Given the description of an element on the screen output the (x, y) to click on. 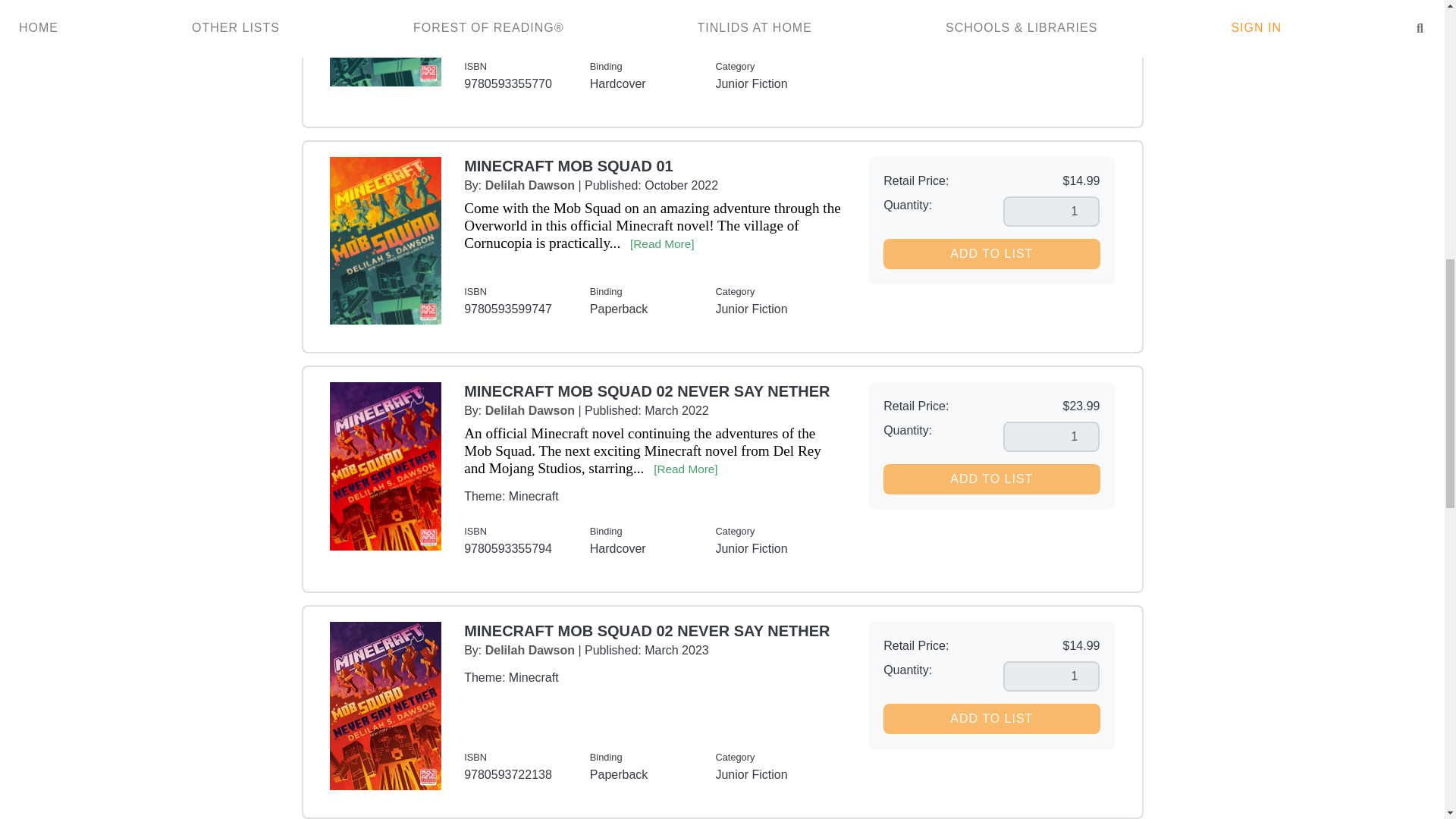
Delilah Dawson (529, 649)
1 (1051, 211)
ADD TO LIST (991, 479)
1 (1051, 675)
ADD TO LIST (991, 718)
ADD TO LIST (991, 14)
1 (1051, 436)
ADD TO LIST (991, 254)
Delilah Dawson (529, 410)
Delilah Dawson (529, 185)
